Given the description of an element on the screen output the (x, y) to click on. 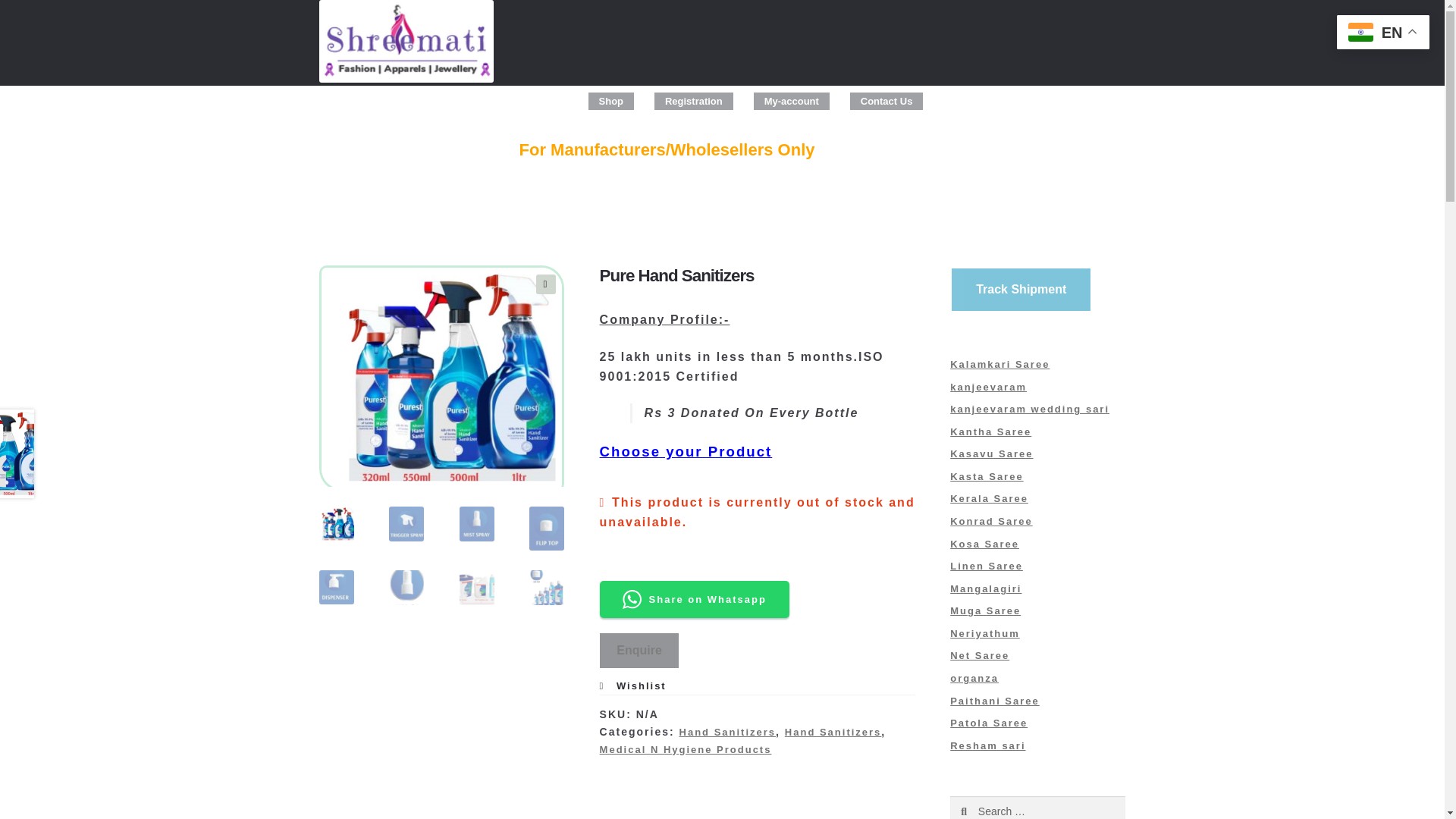
Registration (693, 100)
Contact Us (886, 100)
Shop (611, 100)
Shop (610, 100)
Sarees (357, 177)
My-account (791, 100)
My-account (791, 100)
Registration (694, 100)
Contact Us (886, 100)
